Given the description of an element on the screen output the (x, y) to click on. 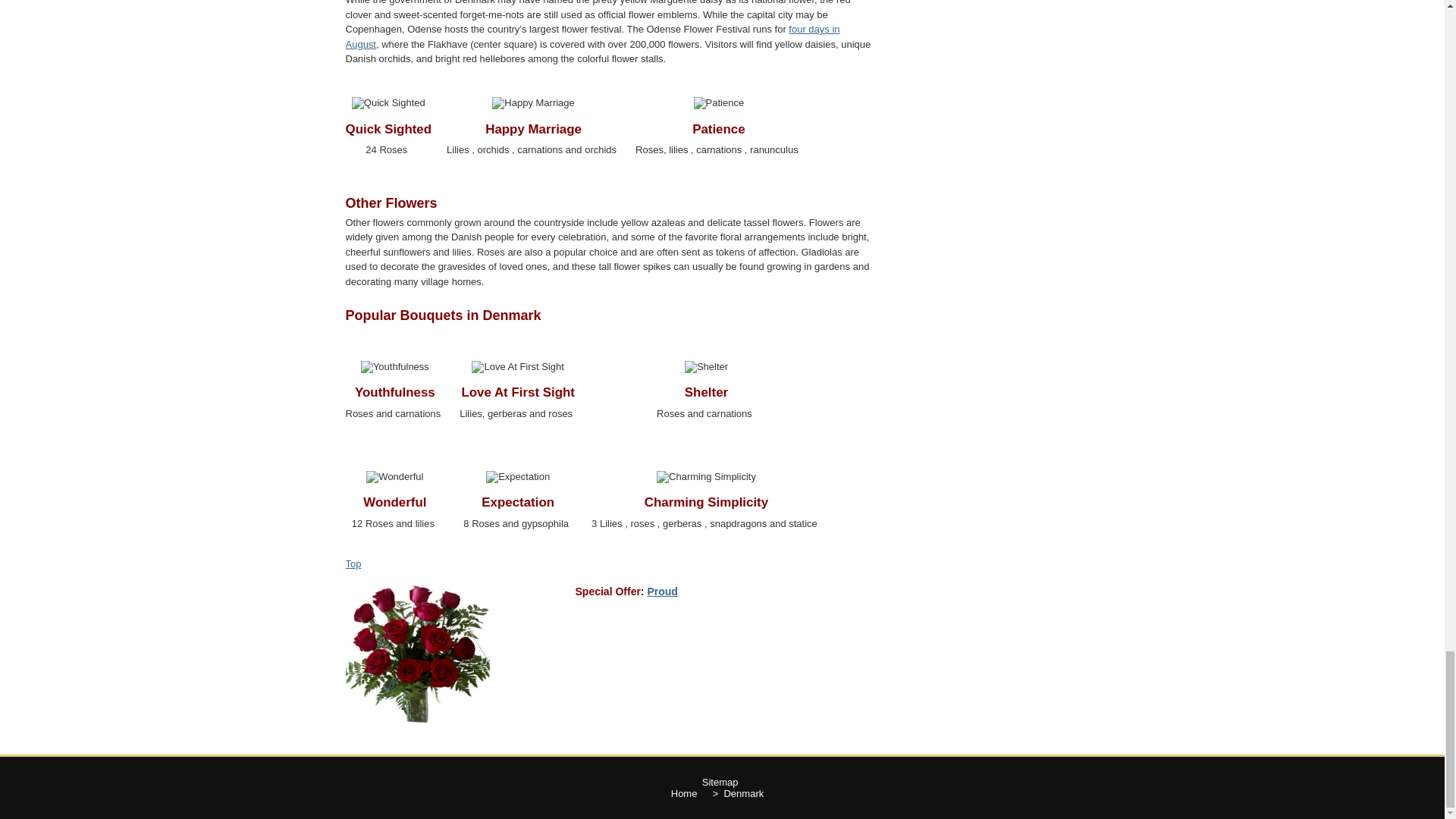
Top (353, 563)
four days in August (593, 36)
Top (353, 563)
